Given the description of an element on the screen output the (x, y) to click on. 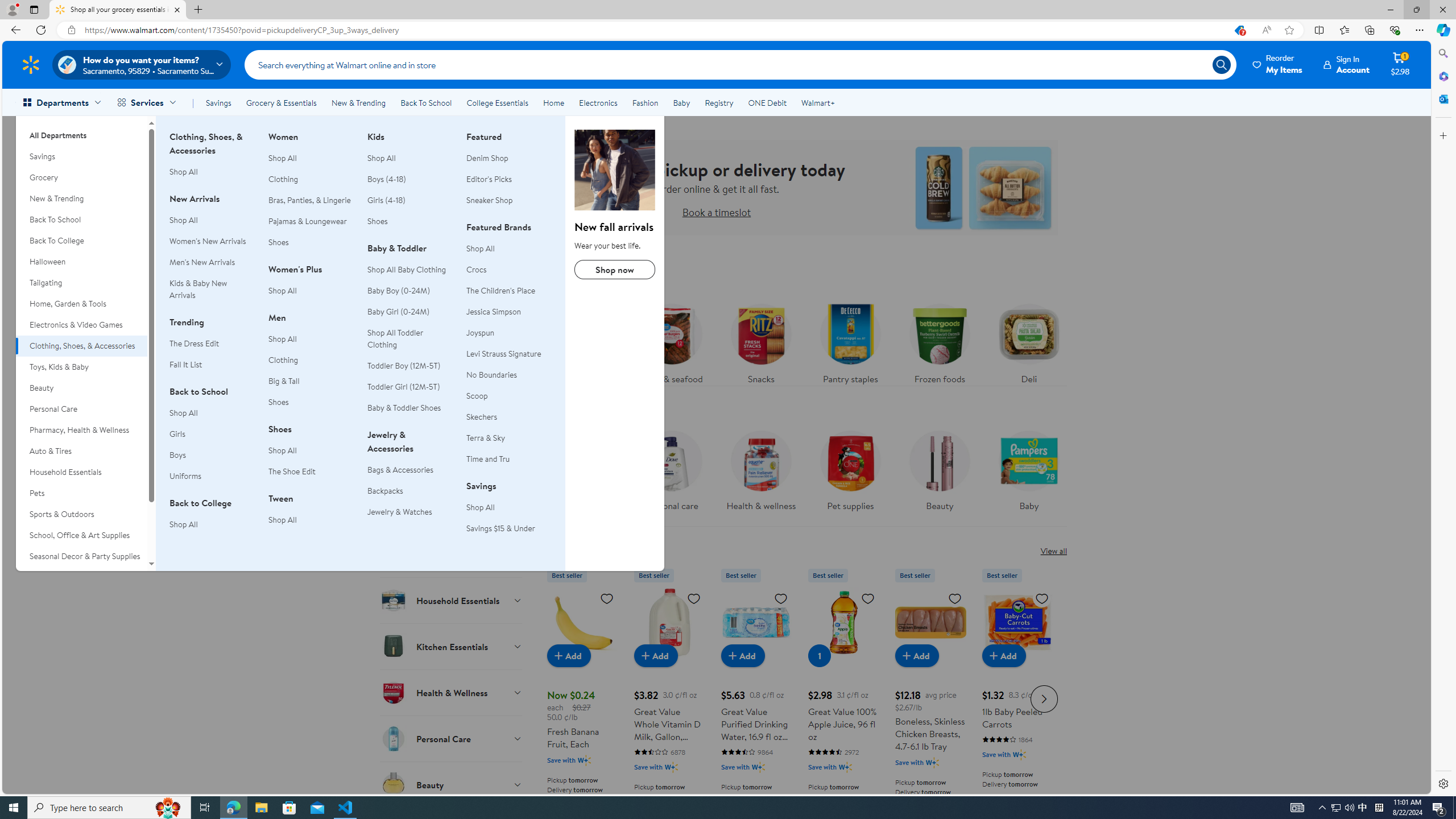
Grocery (81, 177)
Joyspun (508, 332)
Walmart Homepage (30, 64)
Clothing, Shoes, & Accessories  (615, 169)
Fashion (644, 102)
Grocery (81, 177)
New & Trending (358, 102)
Electronics (598, 102)
Scoop (508, 395)
Skechers (481, 416)
Electronics (598, 102)
Sports & Outdoors (81, 513)
